Given the description of an element on the screen output the (x, y) to click on. 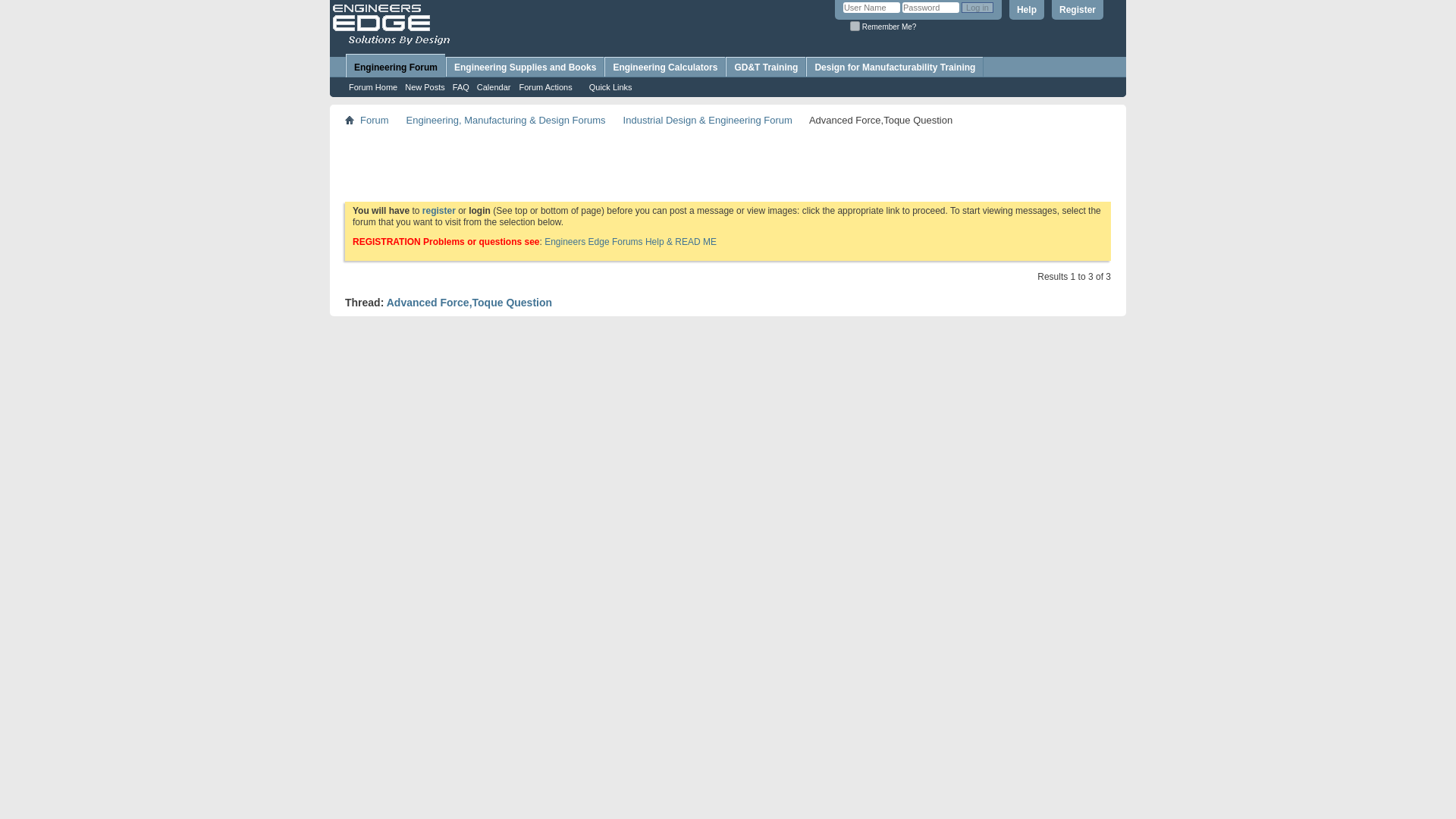
Forum (374, 120)
Calendar (494, 87)
Advanced Force,Toque Question (469, 302)
Engineering Supplies and Books (524, 66)
register (438, 210)
Engineering Calculators (664, 66)
Forum Actions (548, 87)
Quick Links (615, 87)
New Posts (424, 87)
Forum Home (373, 87)
